Given the description of an element on the screen output the (x, y) to click on. 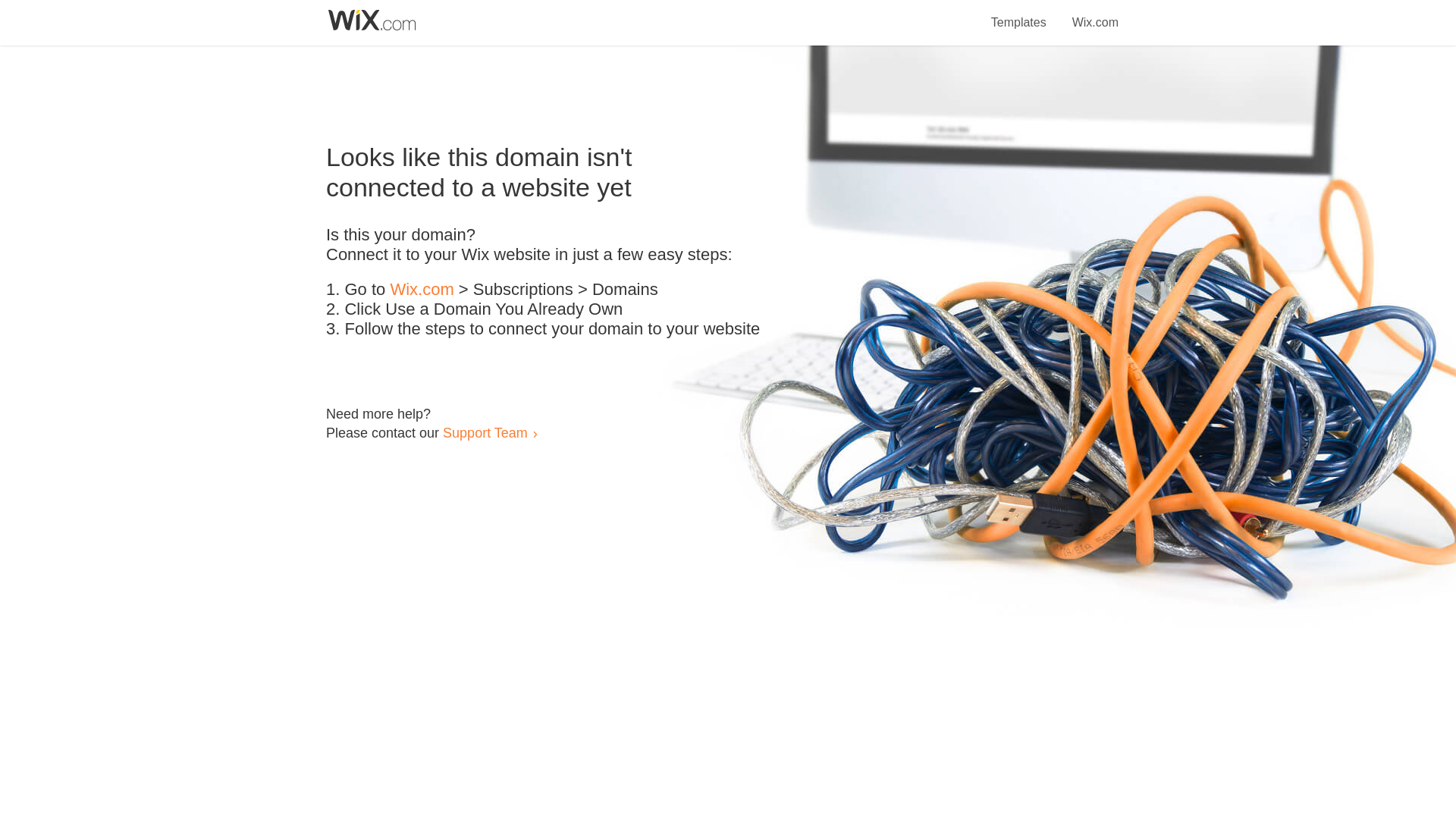
Wix.com (1095, 14)
Templates (1018, 14)
Support Team (484, 432)
Wix.com (421, 289)
